Given the description of an element on the screen output the (x, y) to click on. 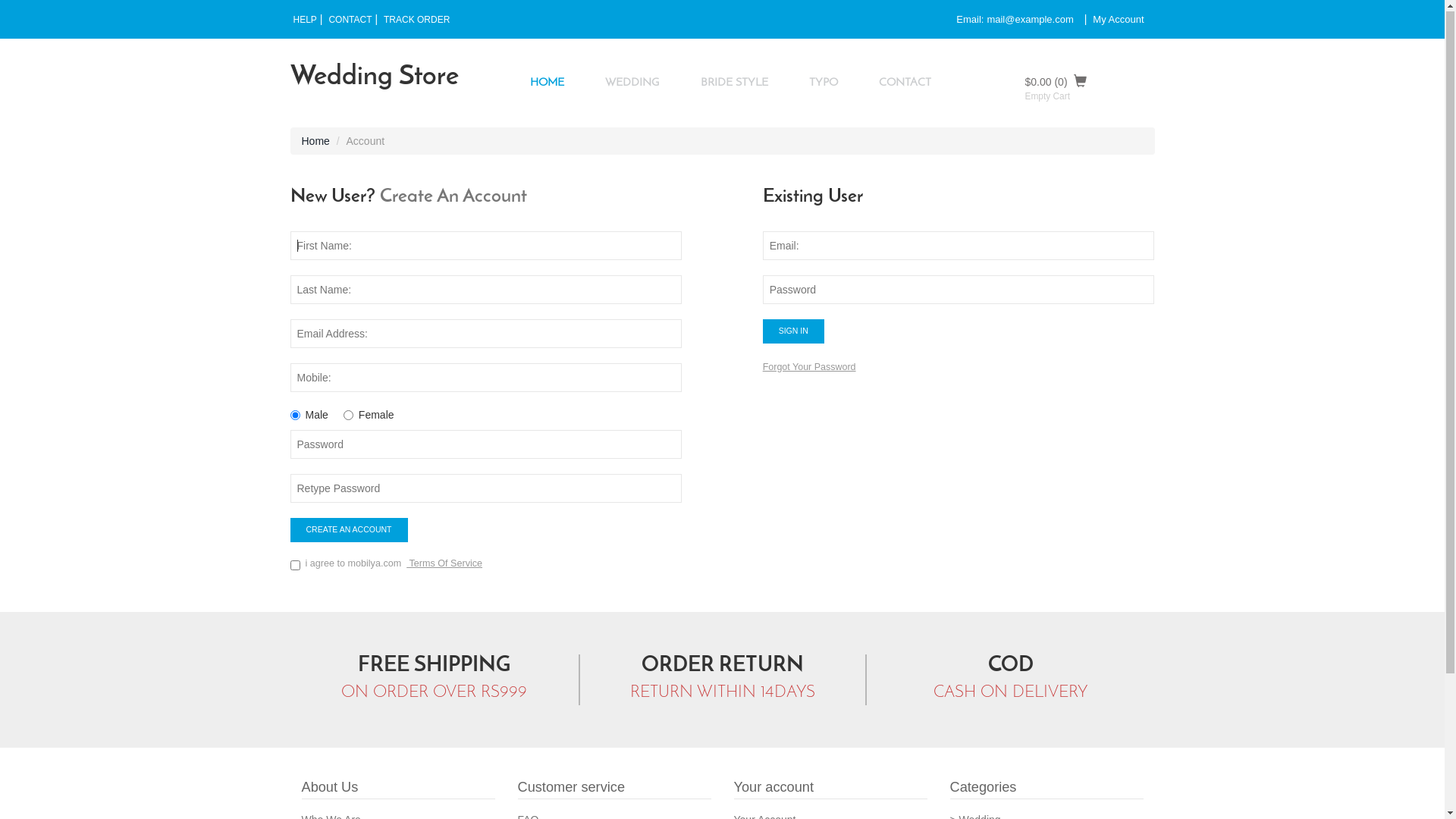
create an account Element type: text (348, 530)
Terms Of Service Element type: text (444, 563)
TRACK ORDER Element type: text (416, 20)
TYPO Element type: text (823, 83)
BRIDE STYLE Element type: text (734, 83)
$0.00 (0) Element type: text (1089, 81)
sign in Element type: text (793, 332)
CONTACT Element type: text (904, 83)
Forgot Your Password Element type: text (809, 367)
WEDDING Element type: text (631, 83)
Home Element type: text (315, 141)
My Account Element type: text (1117, 19)
Empty Cart Element type: text (1047, 96)
HELP Element type: text (304, 20)
HOME Element type: text (547, 83)
Wedding Store Element type: text (373, 78)
CONTACT Element type: text (349, 20)
mail@example.com Element type: text (1029, 19)
